Given the description of an element on the screen output the (x, y) to click on. 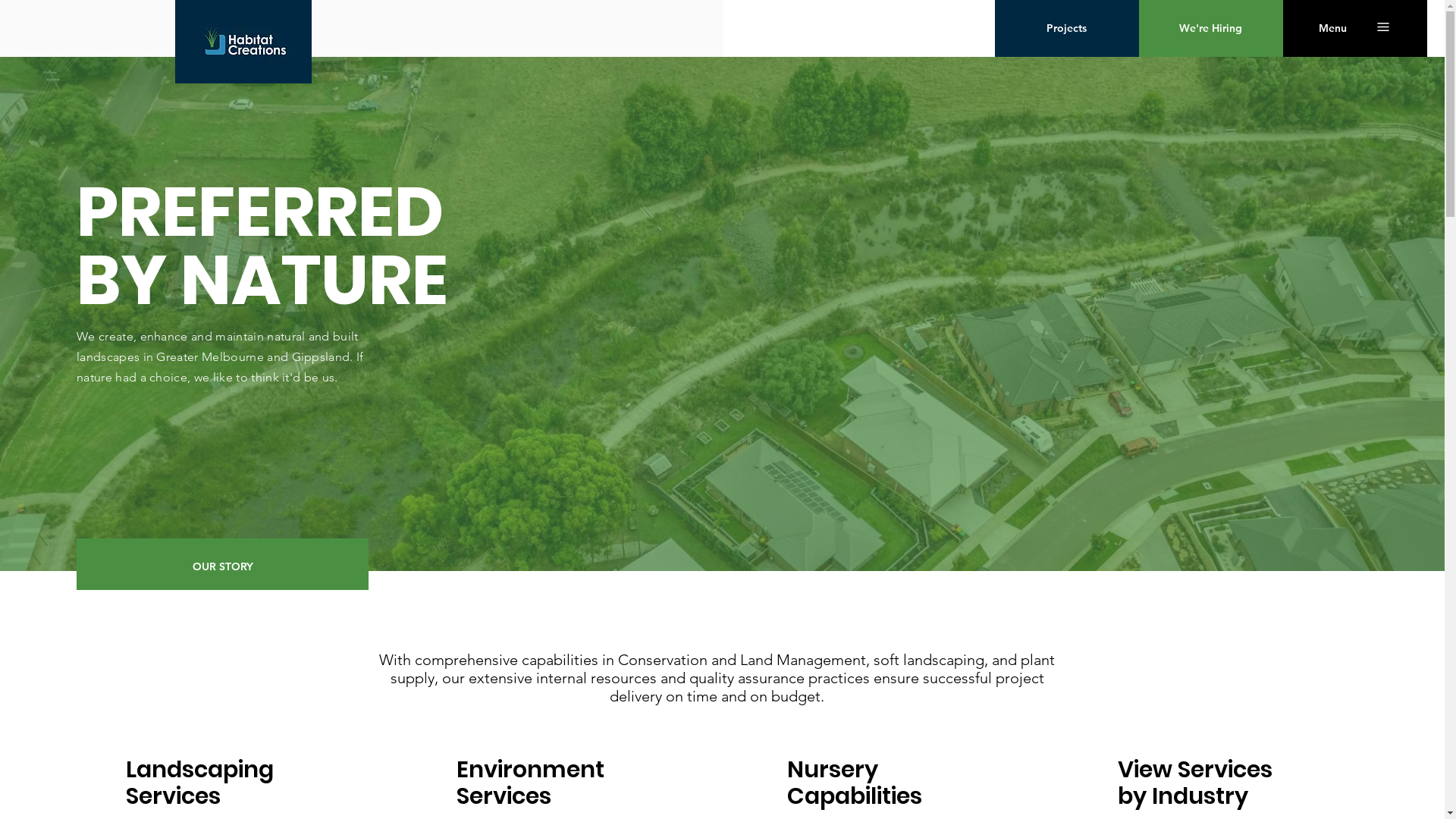
We're Hiring Element type: text (1211, 28)
OUR STORY Element type: text (222, 566)
Projects Element type: text (1066, 28)
Menu Element type: text (1332, 28)
